Given the description of an element on the screen output the (x, y) to click on. 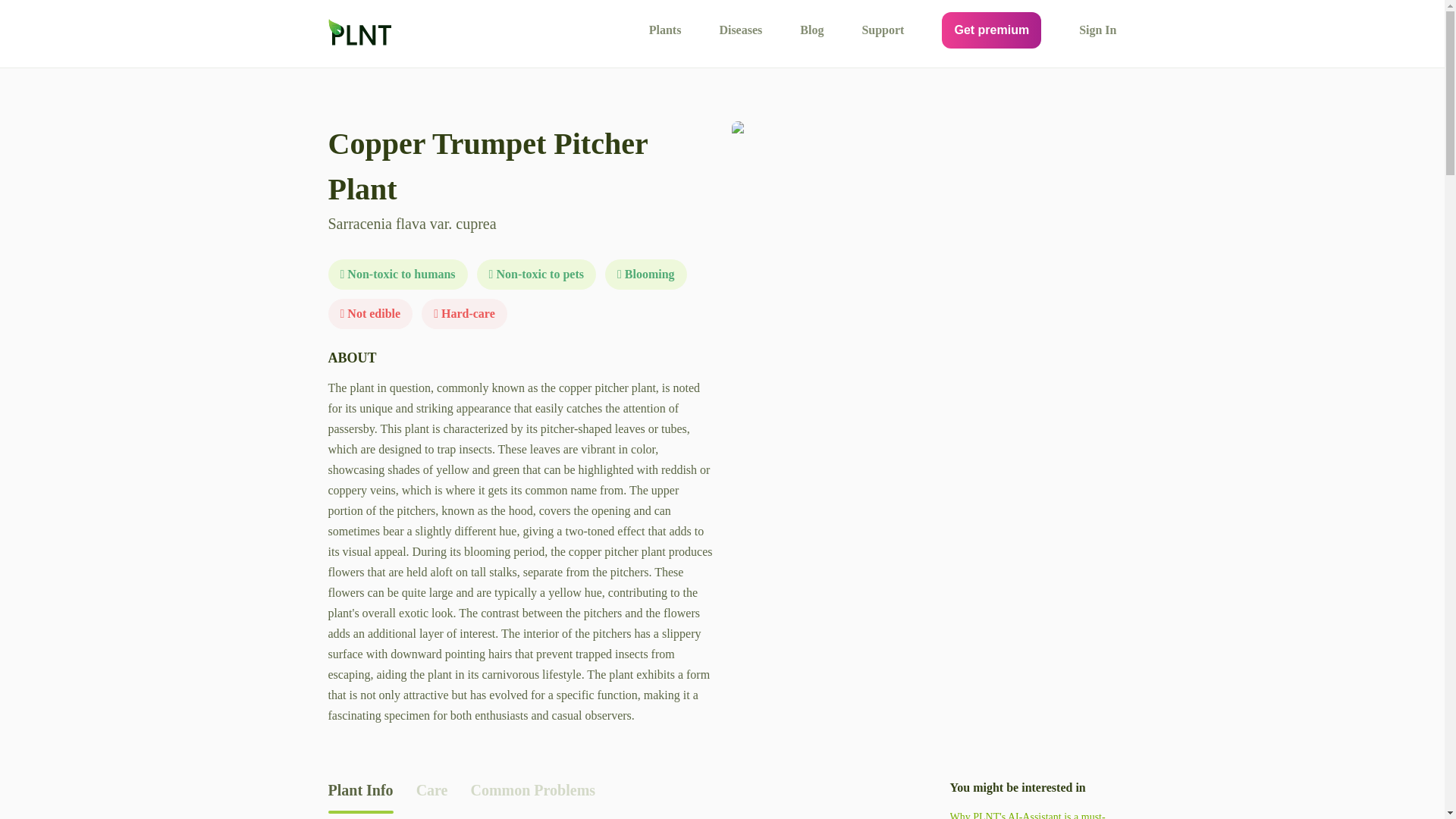
Sign In (1097, 30)
Blog (811, 30)
Diseases (740, 30)
Support (882, 30)
Get premium (991, 30)
Why PLNT's AI-Assistant is a must-have for plant owners (1032, 814)
Plants (665, 30)
